Given the description of an element on the screen output the (x, y) to click on. 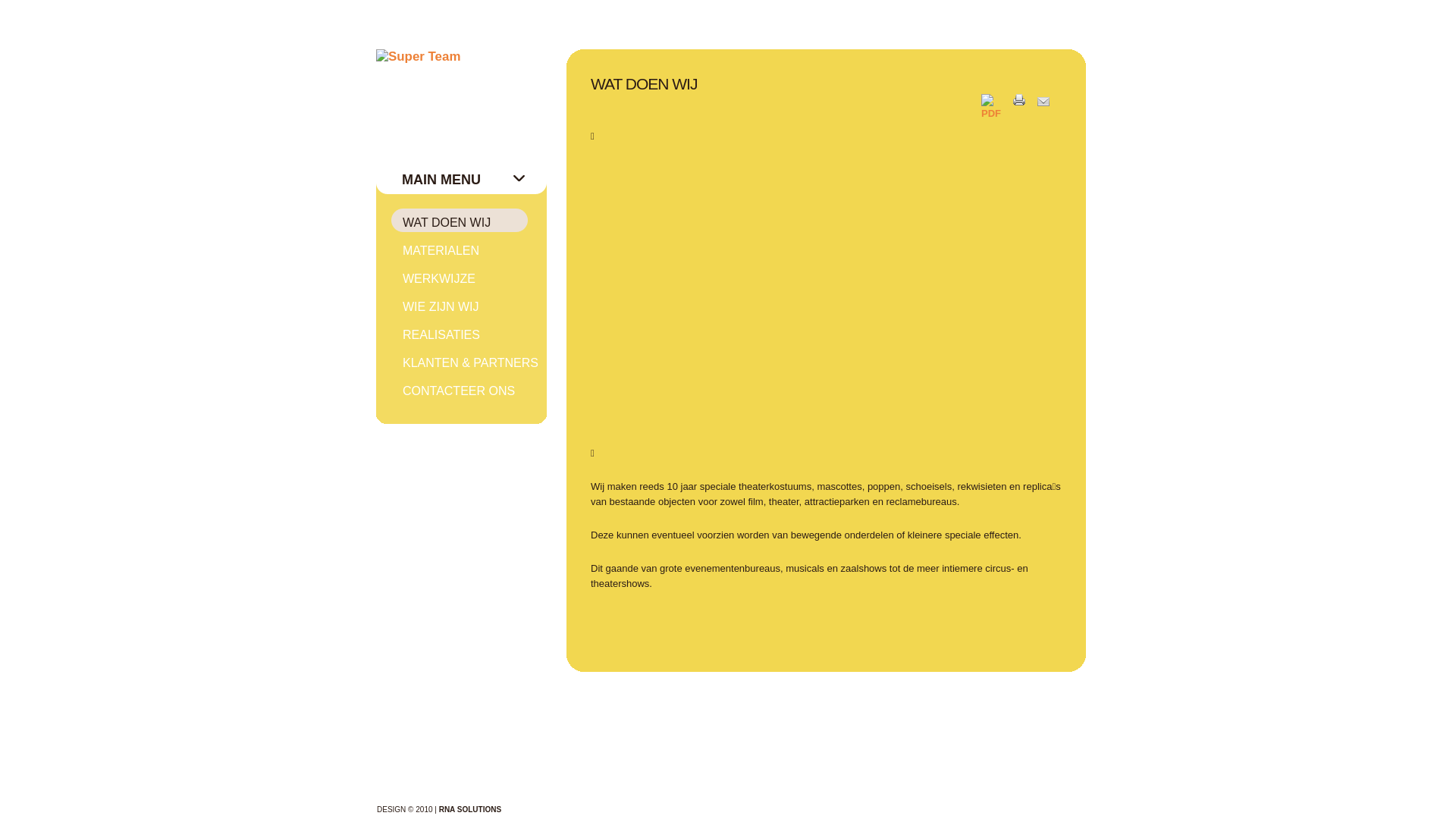
WERKWIJZE Element type: text (468, 277)
MAIN MENU Element type: text (474, 182)
WIE ZIJN WIJ Element type: text (468, 306)
WAT DOEN WIJ Element type: text (468, 221)
MATERIALEN Element type: text (468, 249)
E-mail Element type: hover (1049, 102)
Afdrukken Element type: hover (1025, 102)
KLANTEN & PARTNERS Element type: text (468, 362)
REALISATIES Element type: text (468, 334)
Super Team Element type: hover (418, 56)
RNA SOLUTIONS Element type: text (470, 809)
CONTACTEER ONS Element type: text (468, 390)
PDF Element type: hover (997, 113)
